Given the description of an element on the screen output the (x, y) to click on. 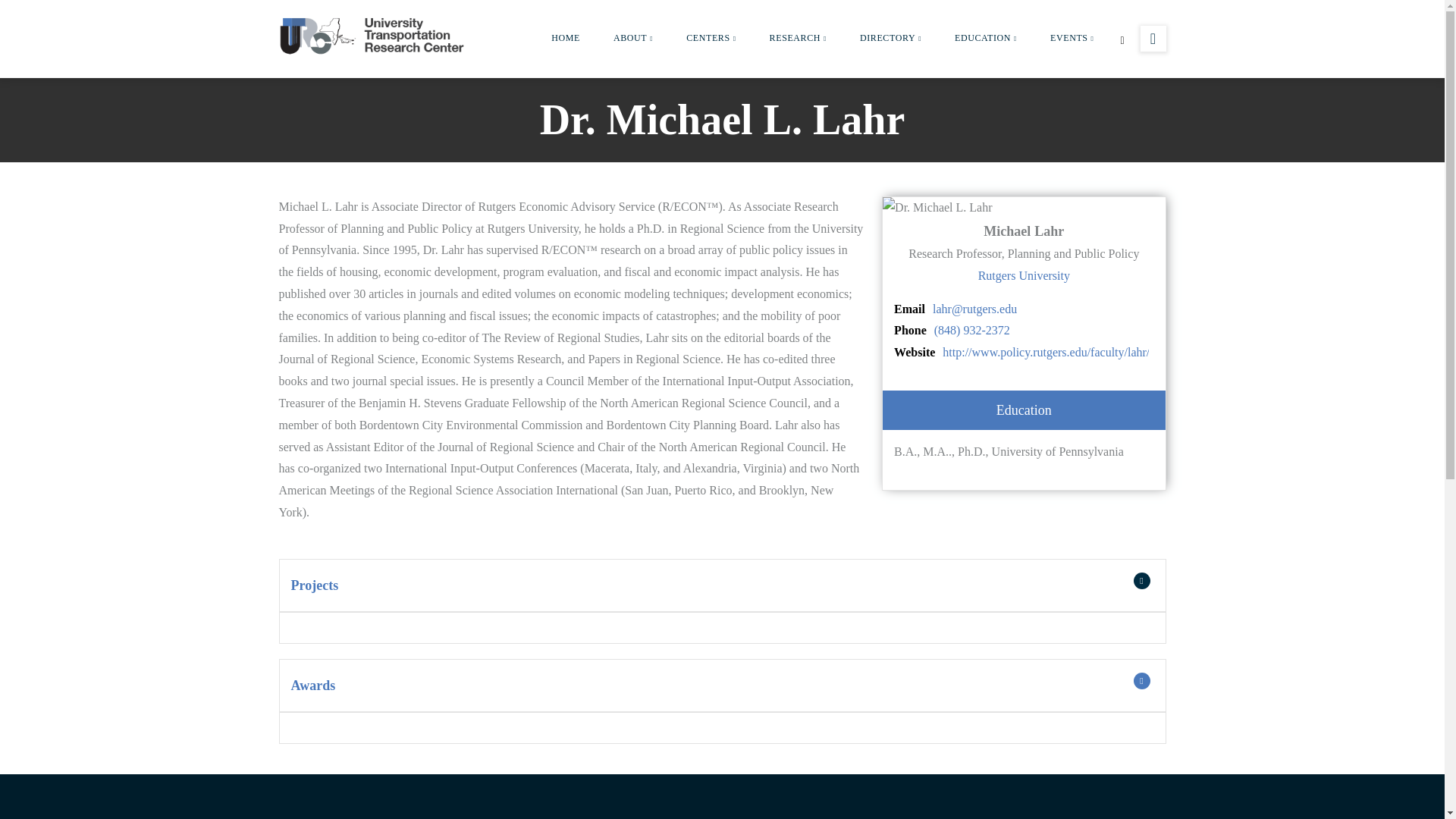
Home (373, 35)
EDUCATION (985, 38)
DIRECTORY (890, 38)
ABOUT (633, 38)
Dr. Michael L. Lahr (936, 208)
RESEARCH (797, 38)
CENTERS (711, 38)
